Given the description of an element on the screen output the (x, y) to click on. 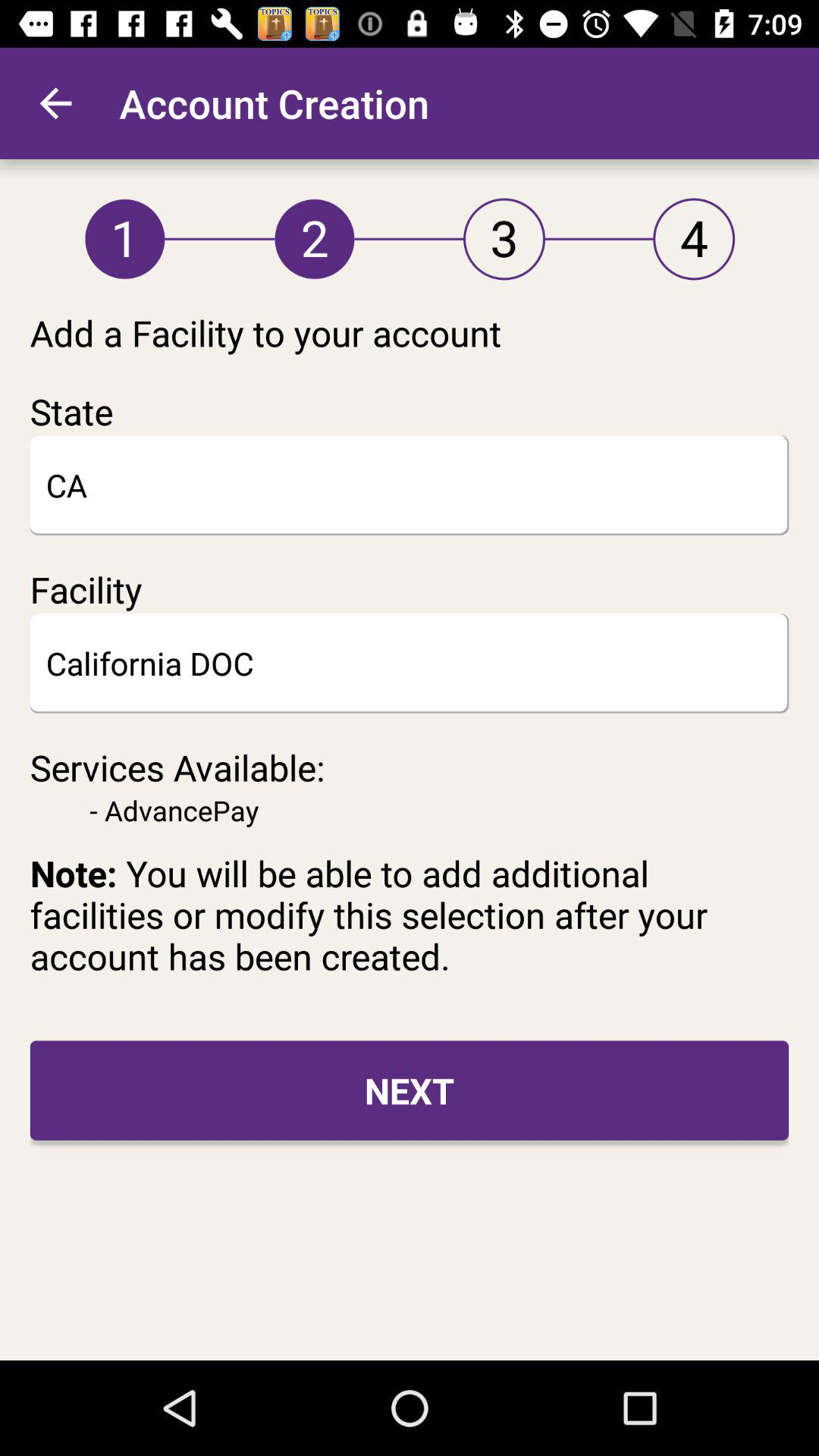
tap the icon next to account creation item (55, 103)
